Given the description of an element on the screen output the (x, y) to click on. 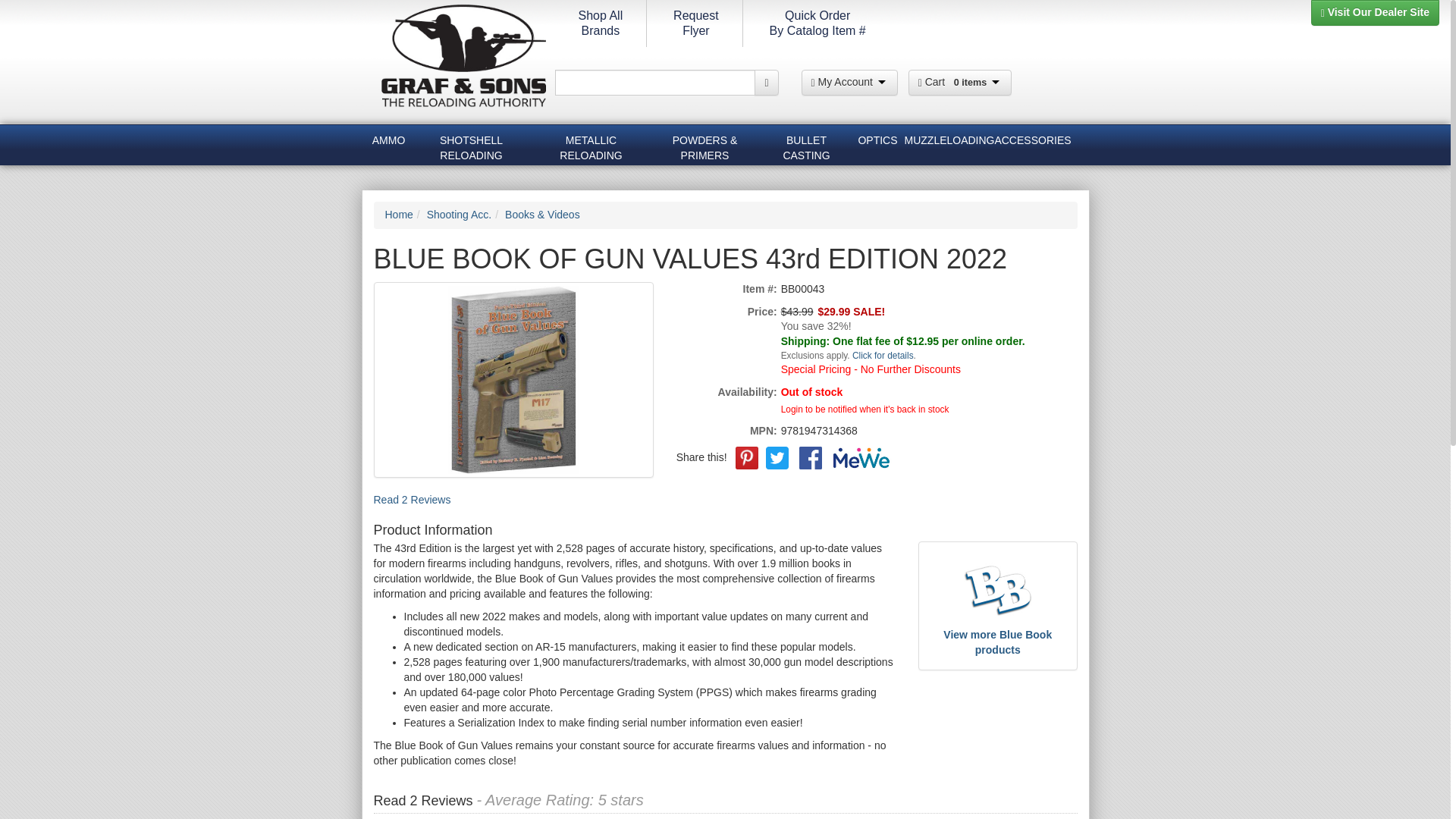
Visit Our Dealer Site (1375, 12)
AMMO (387, 143)
Go (765, 82)
My Account (600, 23)
Cart   0 items (848, 82)
